Given the description of an element on the screen output the (x, y) to click on. 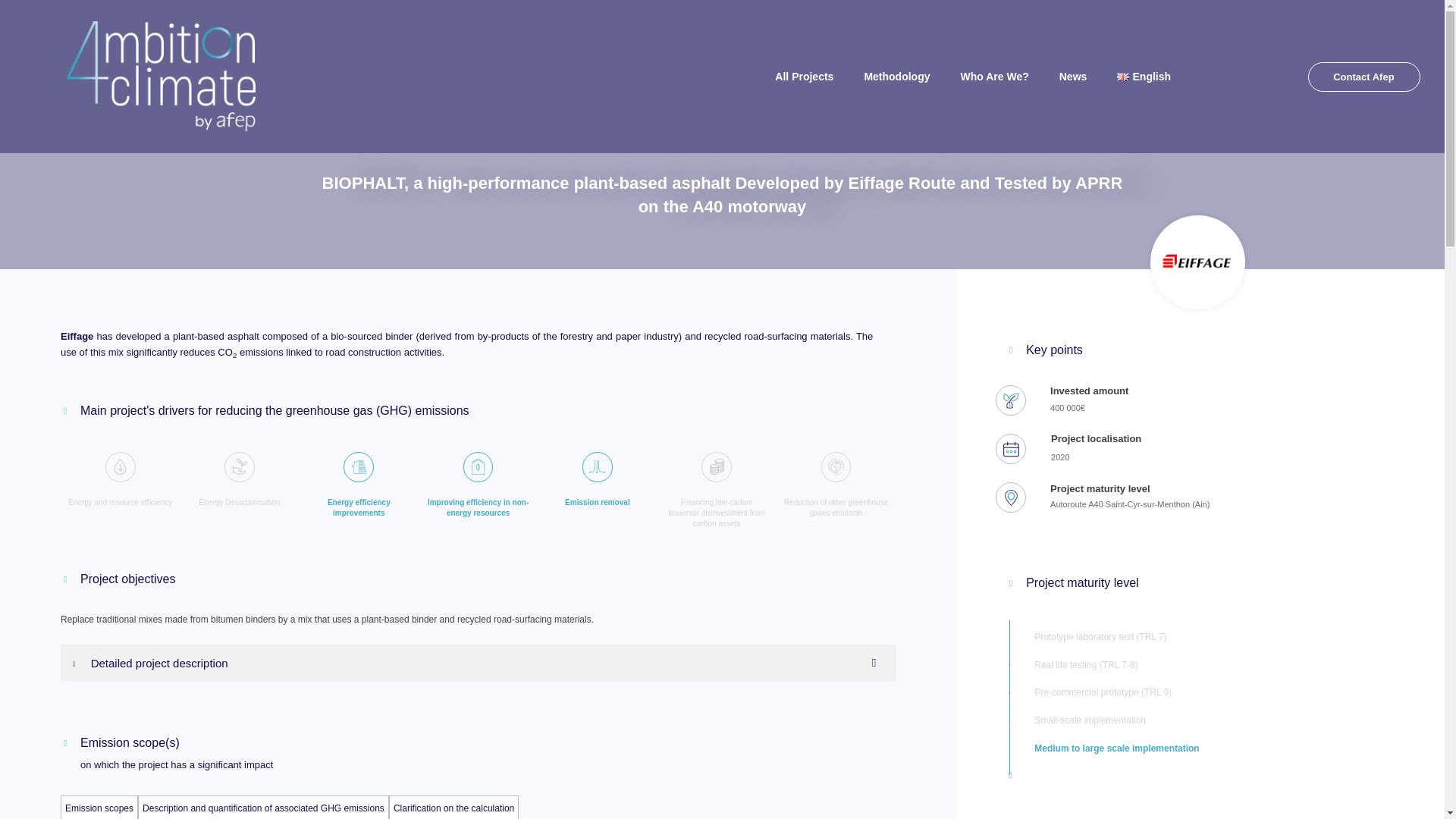
Who Are We? (993, 76)
Contact Afep (1363, 76)
News (1072, 76)
All Projects (804, 76)
Methodology (896, 76)
English (1144, 76)
